Given the description of an element on the screen output the (x, y) to click on. 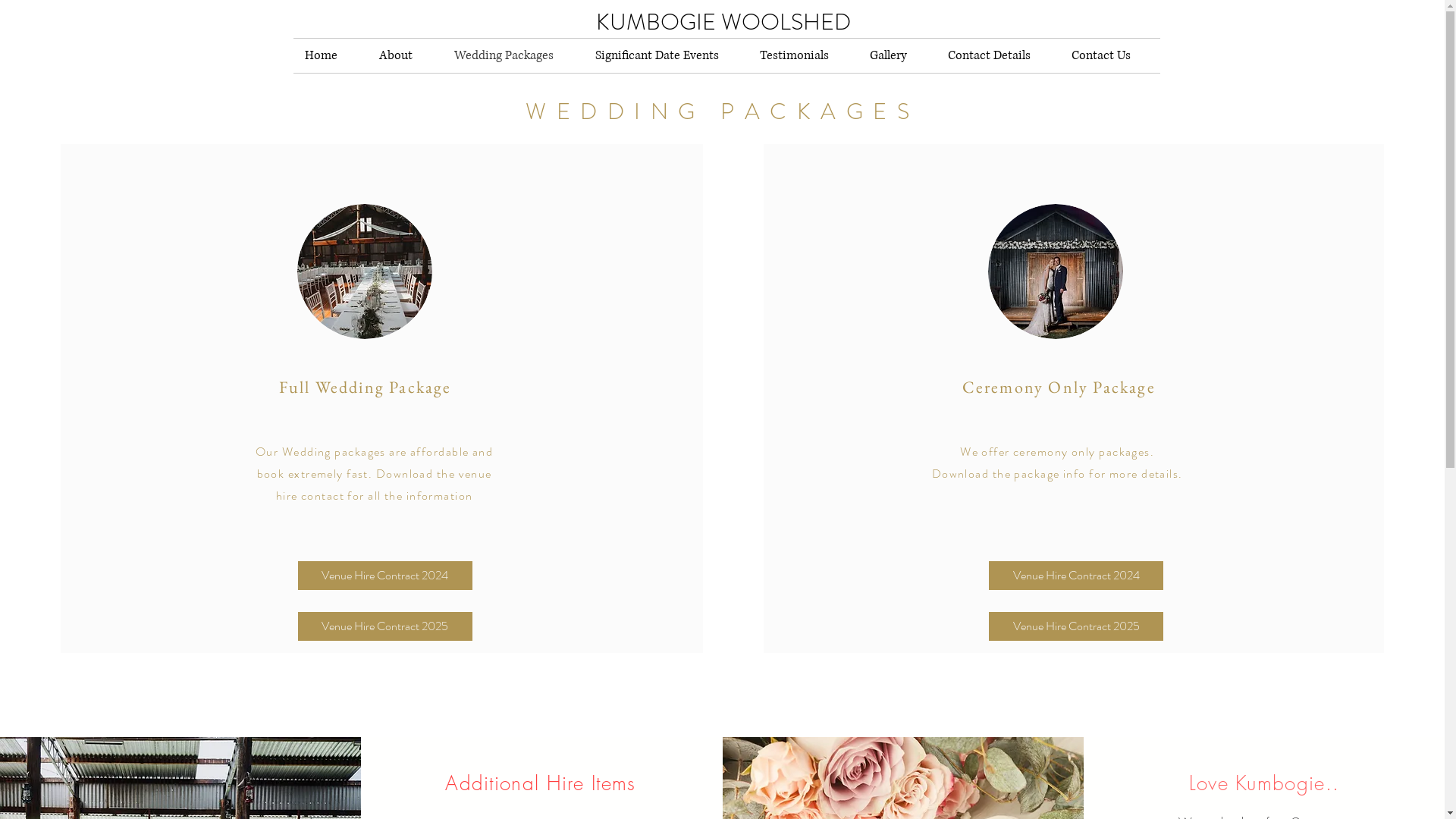
Home Element type: text (329, 55)
Significant Date Events Element type: text (665, 55)
Testimonials Element type: text (802, 55)
Wedding Packages Element type: text (512, 55)
Gallery Element type: text (897, 55)
About Element type: text (404, 55)
KUMBOGIE WOOLSHED Element type: text (723, 21)
Contact Details Element type: text (997, 55)
Venue Hire Contract 2025 Element type: text (385, 626)
Venue Hire Contract 2024 Element type: text (1076, 575)
Contact Us Element type: text (1110, 55)
Venue Hire Contract 2025 Element type: text (1076, 626)
Venue Hire Contract 2024 Element type: text (385, 575)
